Given the description of an element on the screen output the (x, y) to click on. 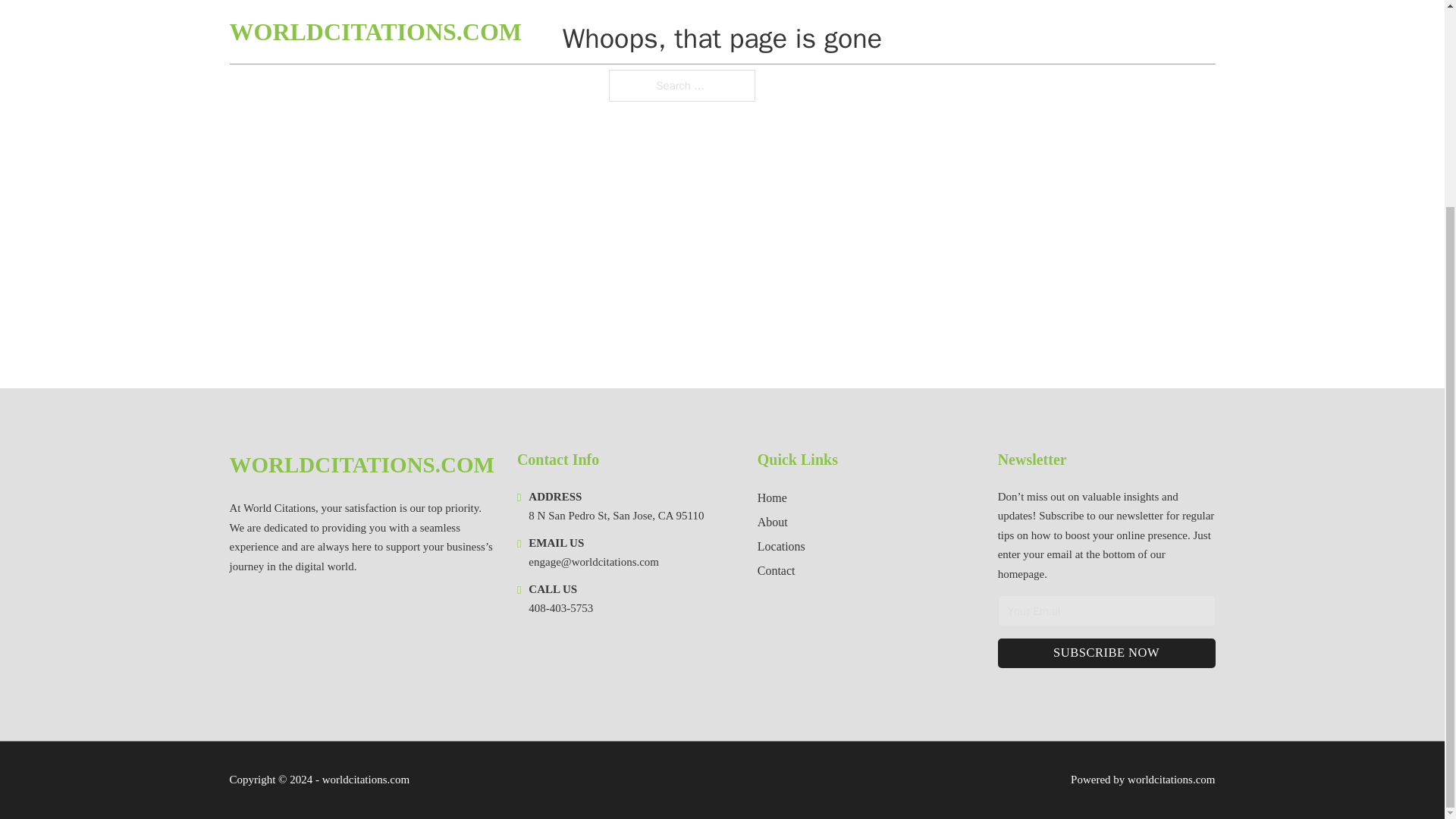
408-403-5753 (560, 607)
Locations (781, 546)
SUBSCRIBE NOW (1106, 653)
About (772, 521)
WORLDCITATIONS.COM (360, 465)
Contact (775, 570)
Home (772, 497)
